Given the description of an element on the screen output the (x, y) to click on. 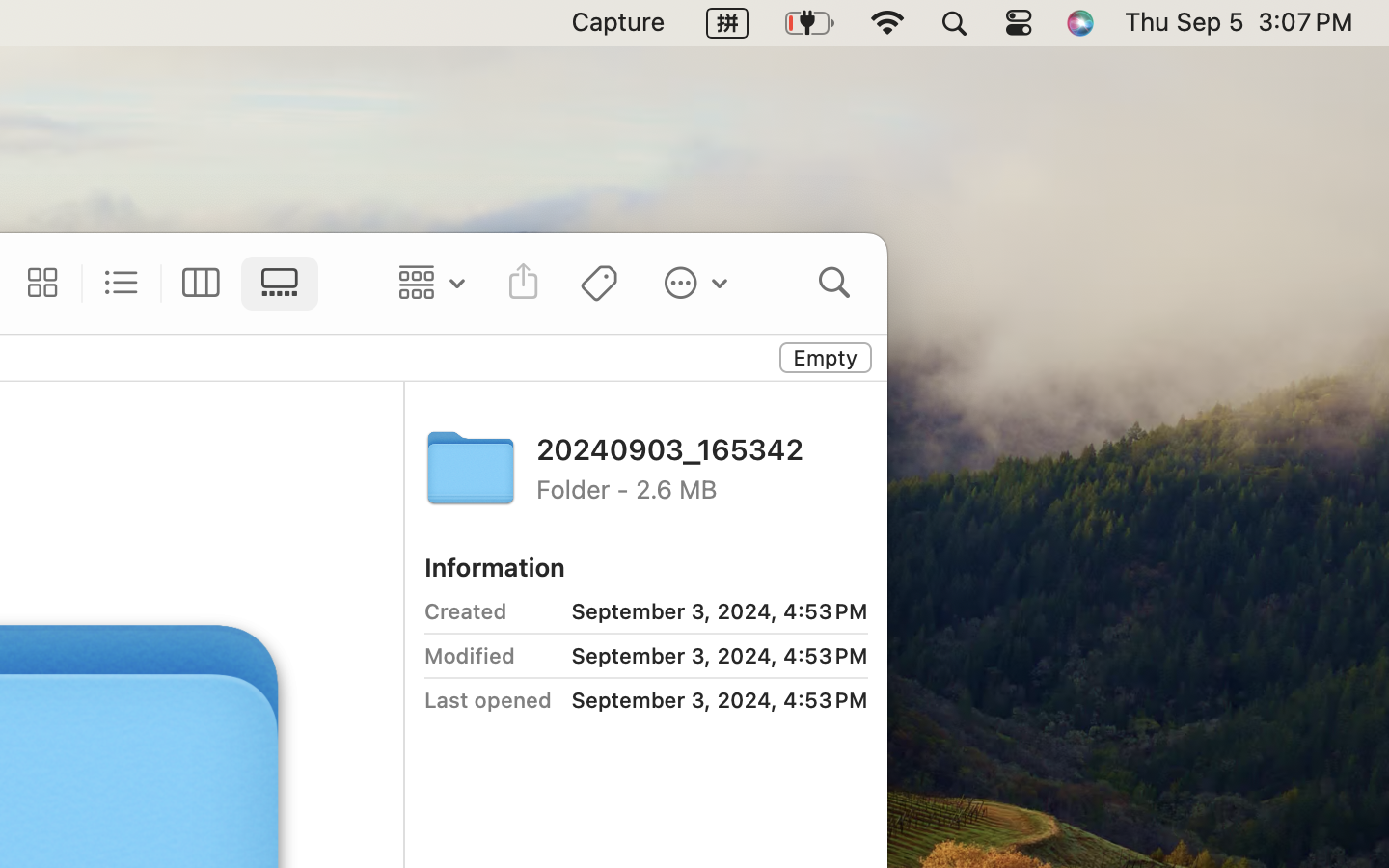
Information Element type: AXStaticText (494, 566)
Created Element type: AXStaticText (465, 610)
Last opened Element type: AXStaticText (487, 699)
20240903_165342 Element type: AXStaticText (702, 447)
